Given the description of an element on the screen output the (x, y) to click on. 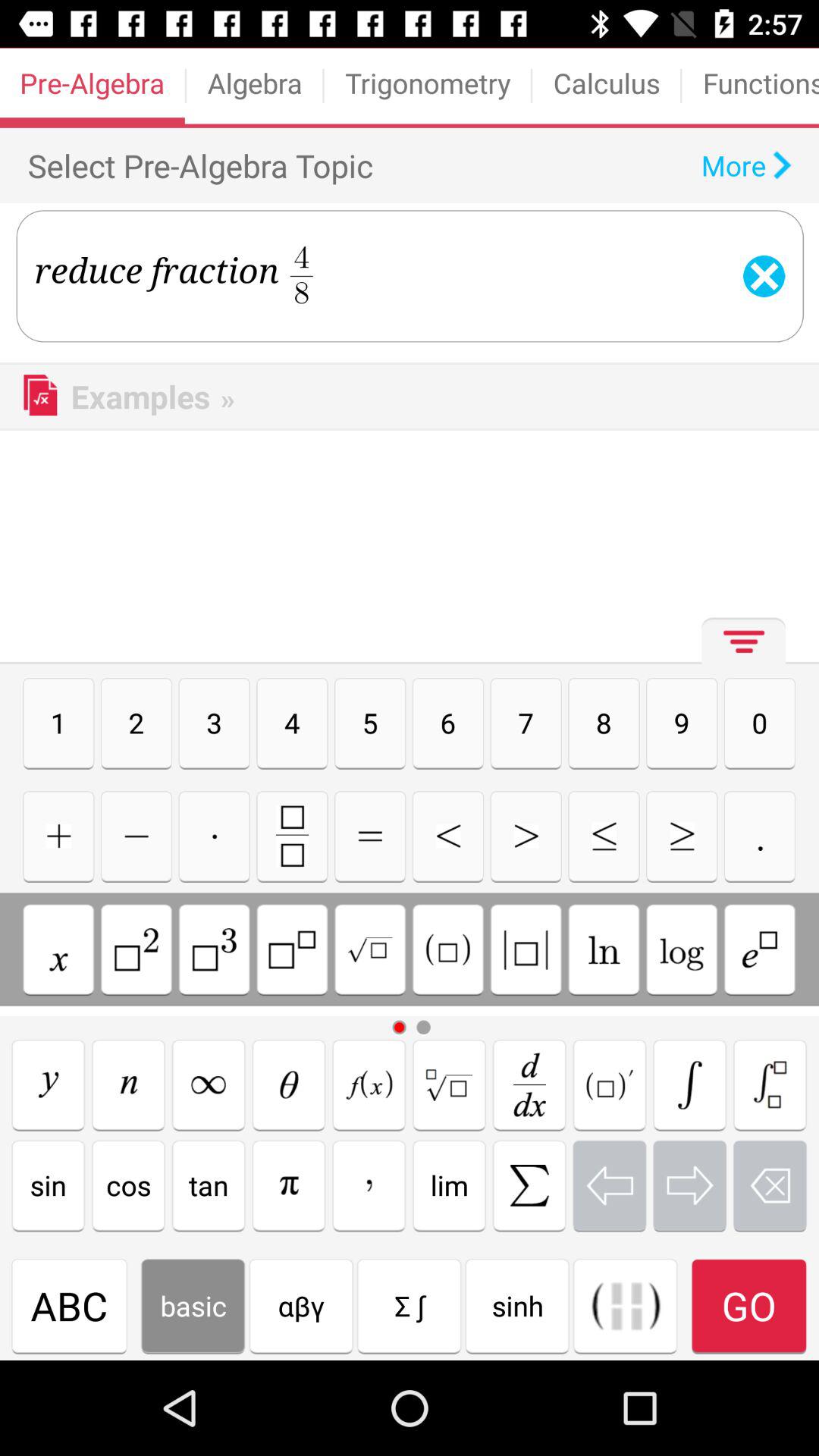
add comma (369, 1185)
